Given the description of an element on the screen output the (x, y) to click on. 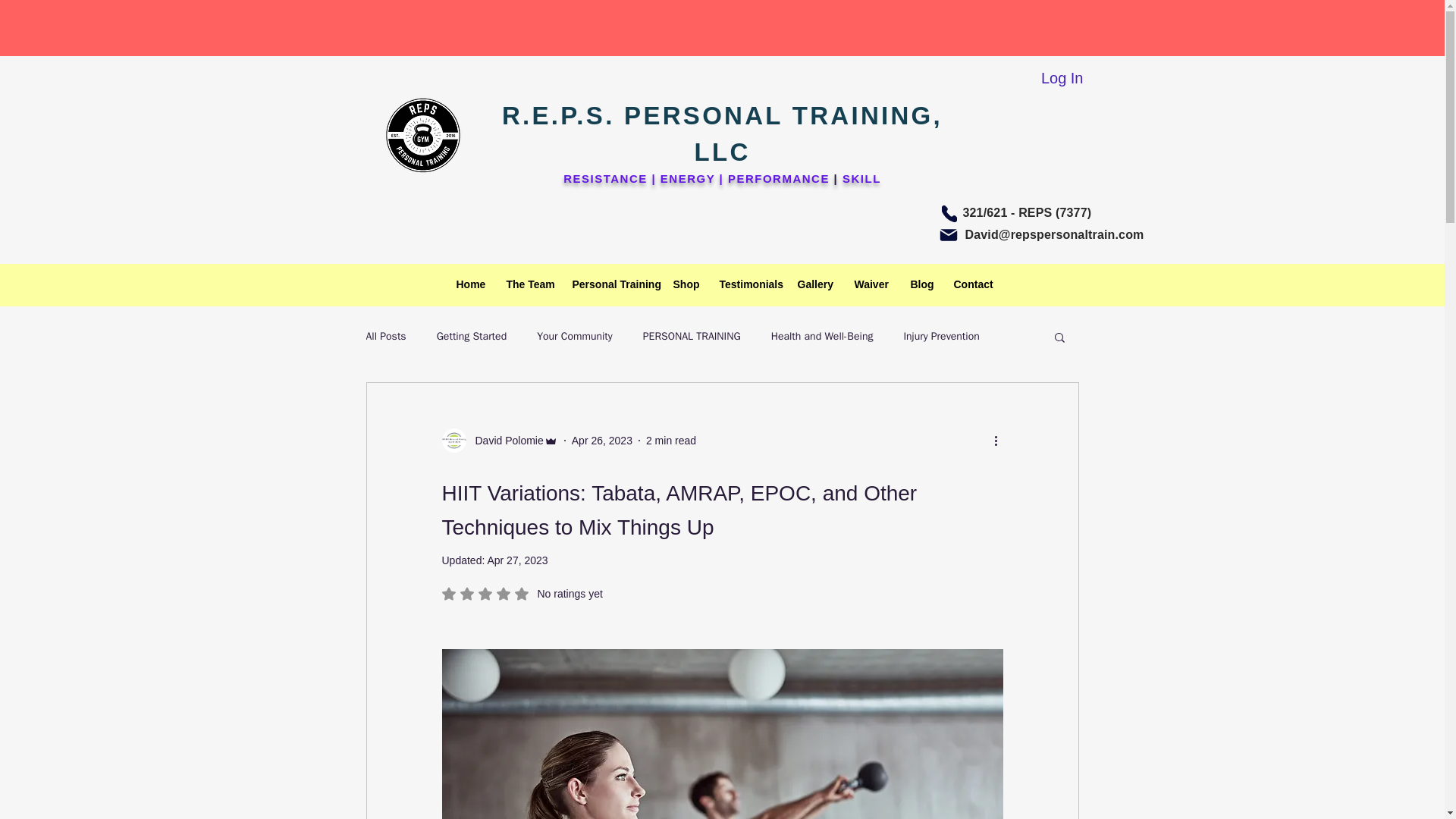
Health and Well-Being (822, 336)
David Polomie (499, 440)
Testimonials (746, 284)
Apr 26, 2023 (601, 440)
PERSONAL TRAINING (692, 336)
Home (469, 284)
Gallery (814, 284)
Contact (970, 284)
Apr 27, 2023 (516, 560)
2 min read (670, 440)
